Given the description of an element on the screen output the (x, y) to click on. 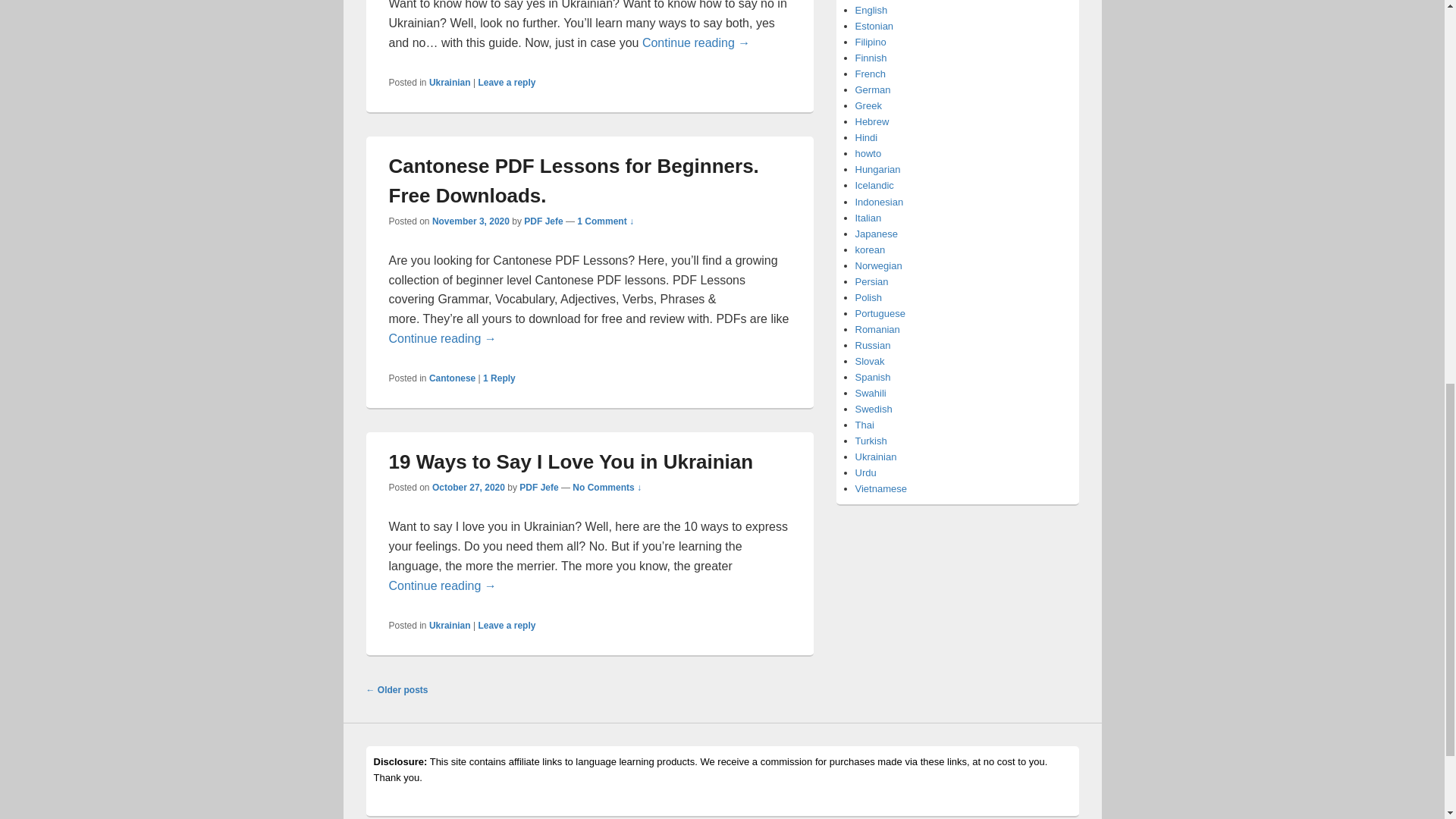
Leave a reply (506, 81)
Cantonese PDF Lessons for Beginners. Free Downloads. (573, 180)
7:32 am (470, 221)
19 Ways to Say I Love You in Ukrainian (570, 461)
November 3, 2020 (470, 221)
View all posts by PDF Jefe (538, 487)
PDF Jefe (543, 221)
Cantonese (452, 378)
Permalink to 19 Ways to Say I Love You in Ukrainian (570, 461)
3:09 pm (468, 487)
PDF Jefe (538, 487)
View all posts by PDF Jefe (543, 221)
Ukrainian (449, 81)
1 Reply (499, 378)
